Given the description of an element on the screen output the (x, y) to click on. 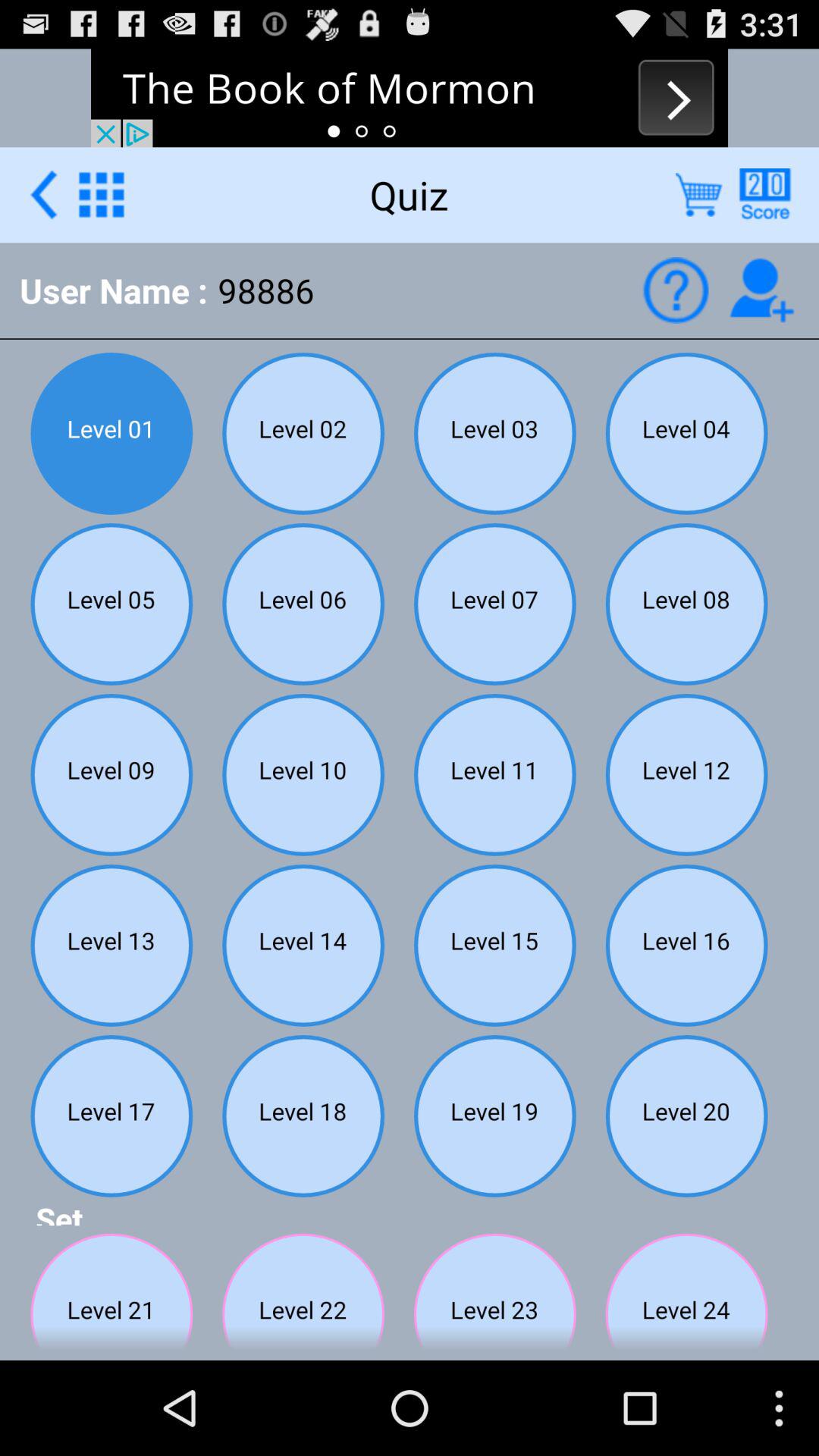
add contact (761, 290)
